Given the description of an element on the screen output the (x, y) to click on. 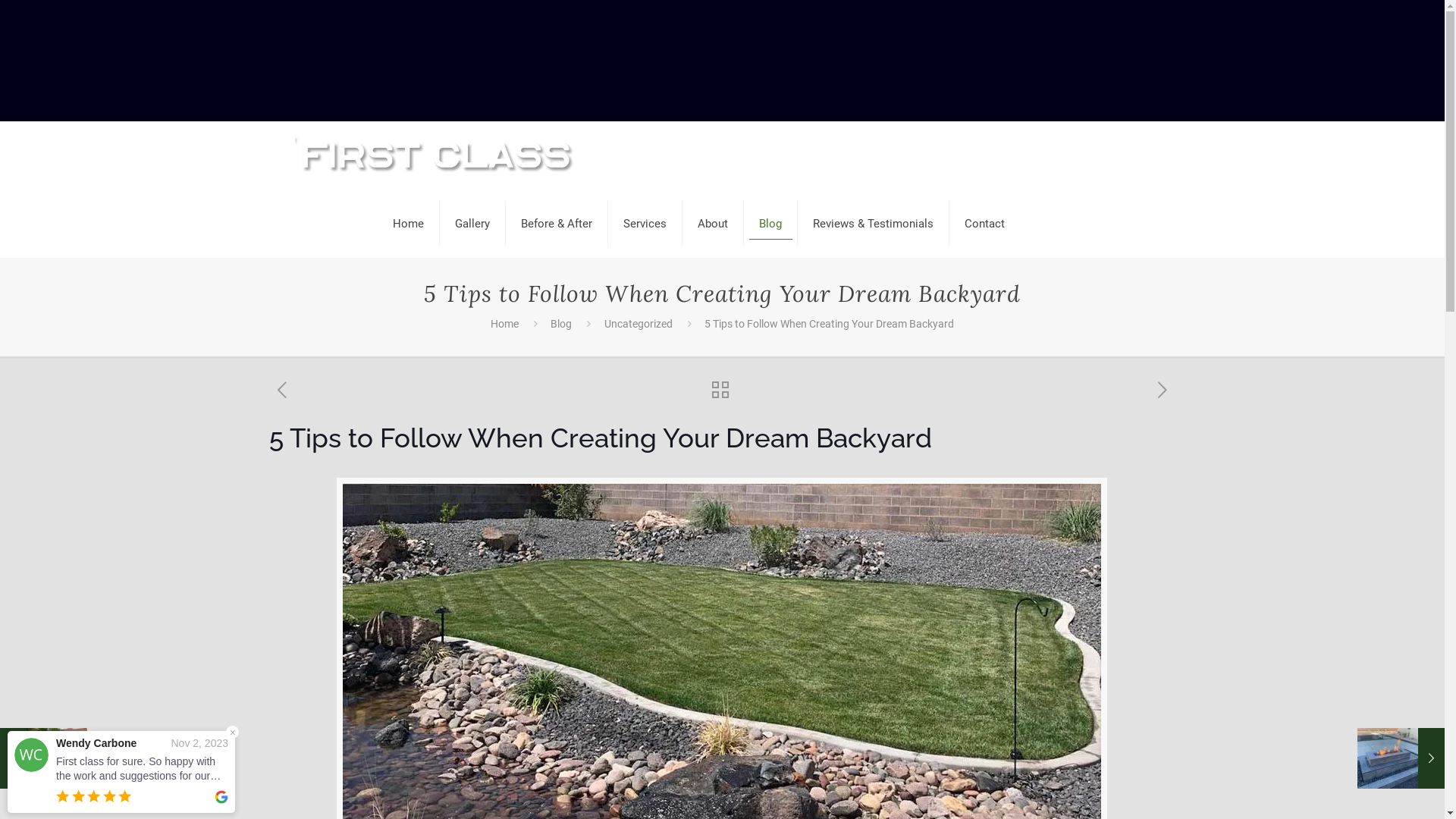
Services Element type: text (645, 223)
Gallery Element type: text (472, 223)
Contact Element type: text (984, 223)
Uncategorized Element type: text (638, 323)
Before & After Element type: text (556, 223)
About Element type: text (712, 223)
Home Element type: text (408, 223)
Reviews & Testimonials Element type: text (873, 223)
Blog Element type: text (560, 323)
Landscaping St. George Element type: hover (436, 155)
Blog Element type: text (770, 223)
Home Element type: text (504, 323)
